Given the description of an element on the screen output the (x, y) to click on. 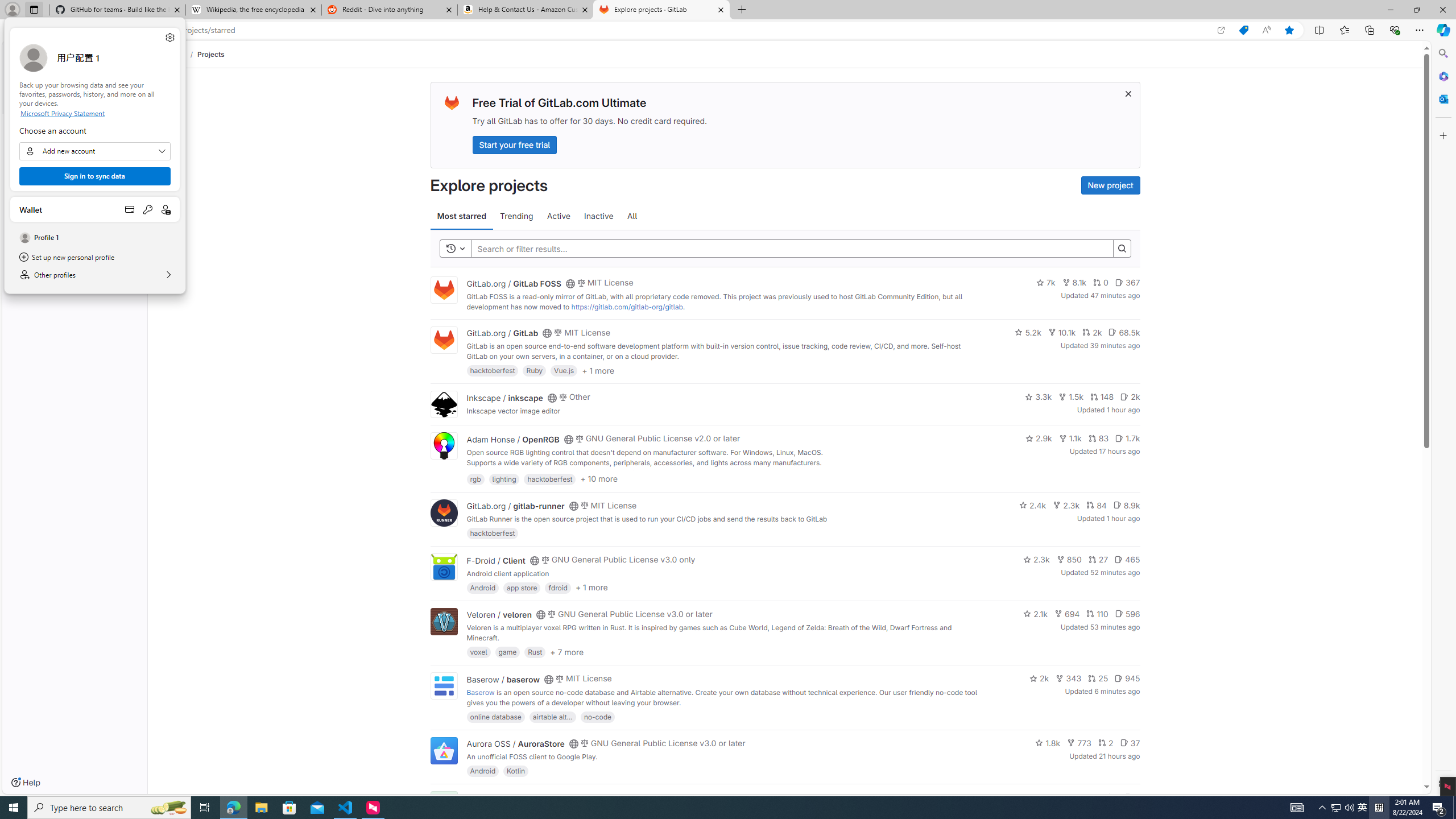
Veloren / veloren (498, 614)
hacktoberfest (492, 533)
Inkscape / inkscape (504, 397)
2.3k (1035, 559)
Wallet (94, 208)
Show desktop (1454, 807)
online database (495, 715)
Inactive (598, 216)
GitLab.org / gitlab-runner (514, 506)
1.5k (1070, 396)
465 (1127, 559)
Type here to search (108, 807)
367 (1127, 282)
